Given the description of an element on the screen output the (x, y) to click on. 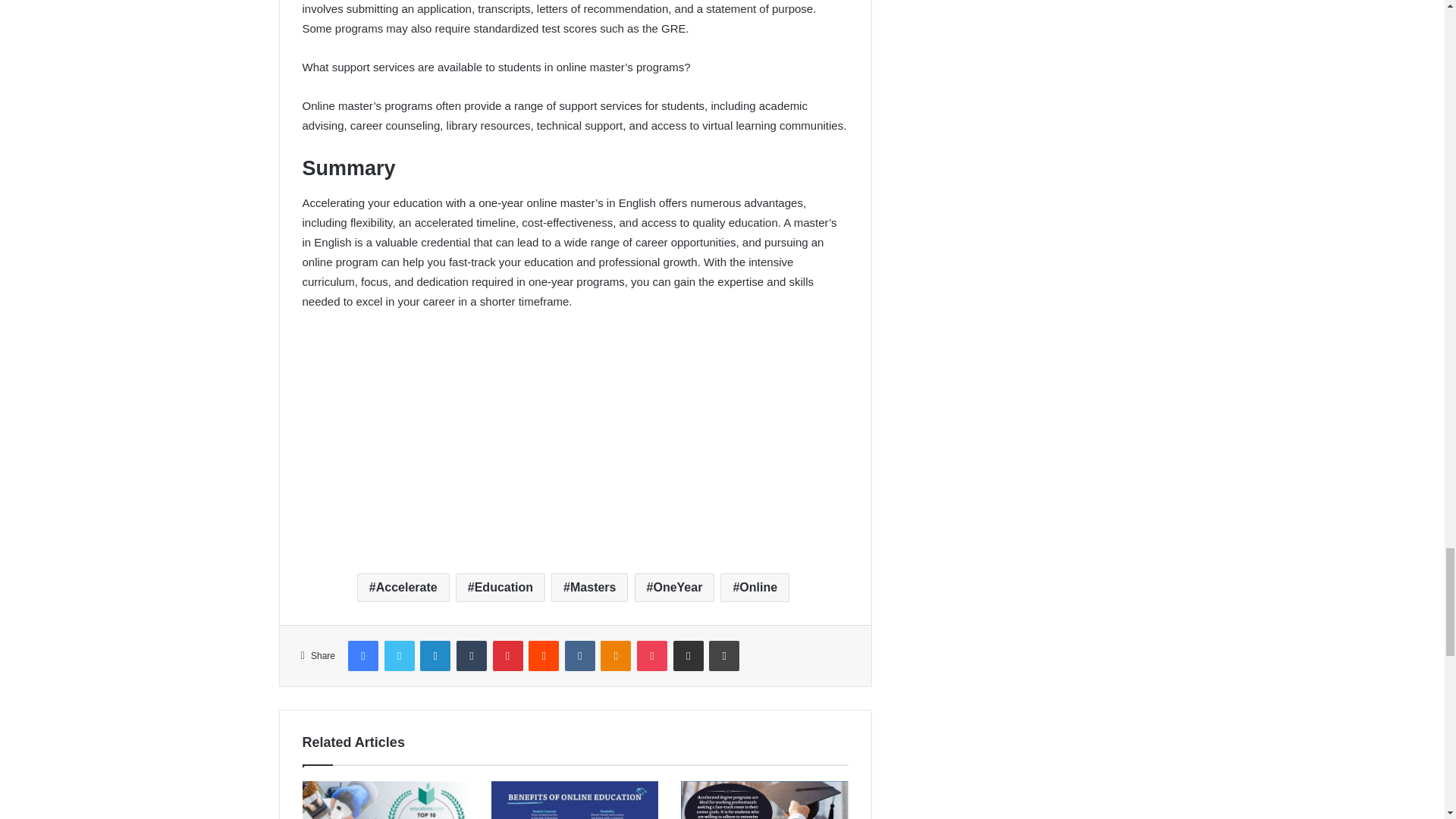
Accelerate (402, 587)
Education (499, 587)
Masters (589, 587)
Online (754, 587)
OneYear (674, 587)
